Given the description of an element on the screen output the (x, y) to click on. 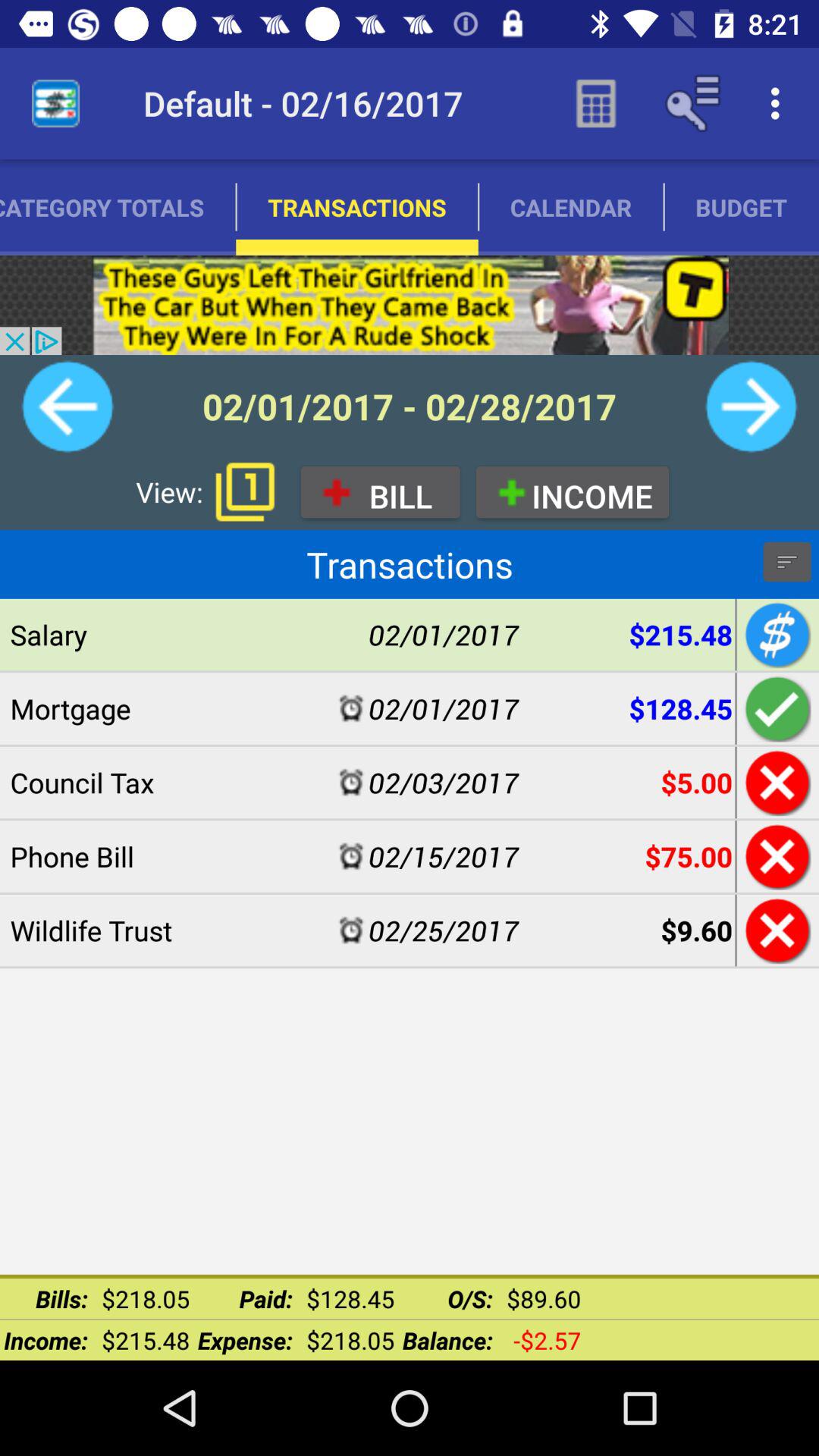
cancel (775, 856)
